Given the description of an element on the screen output the (x, y) to click on. 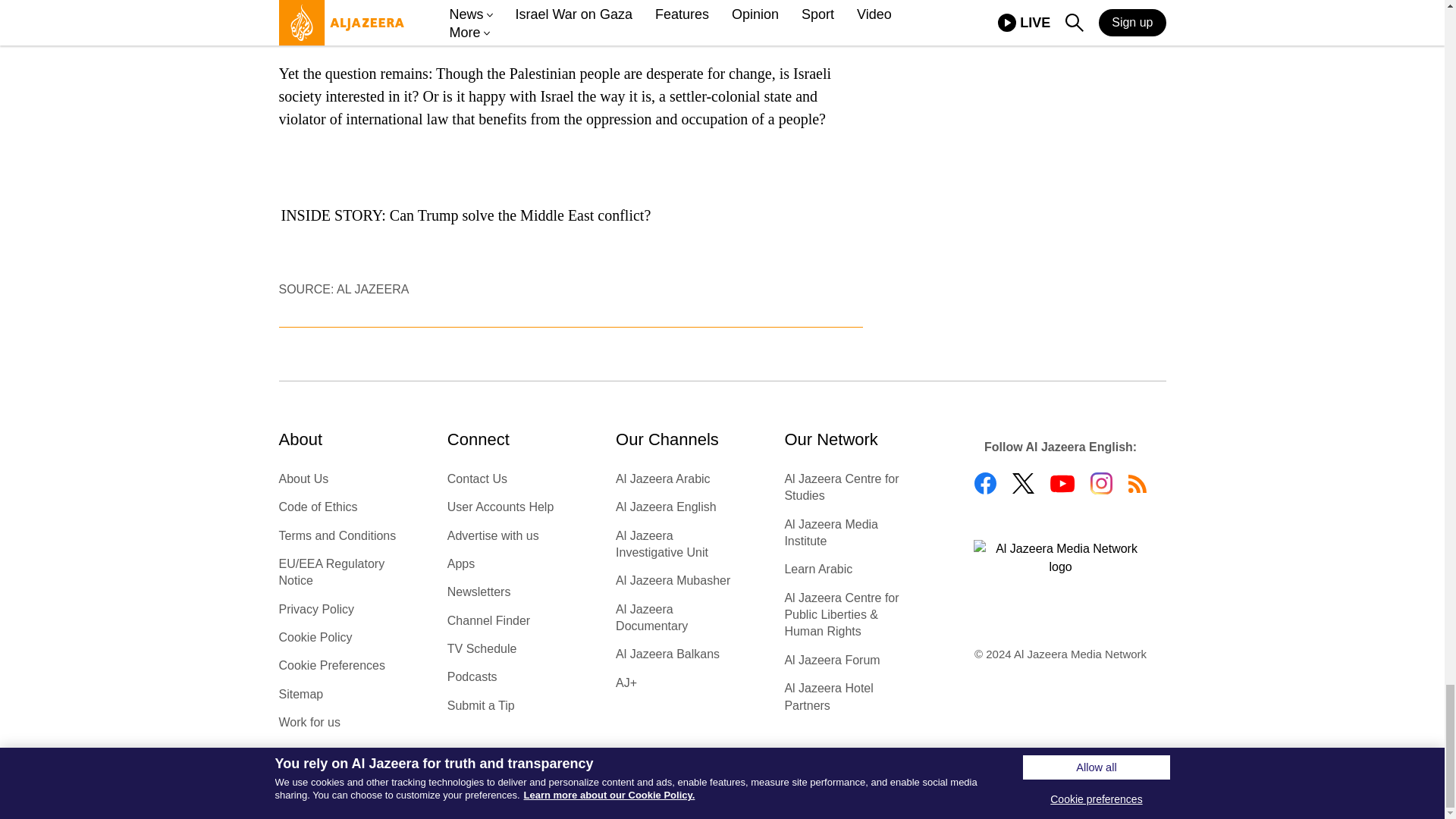
twitter (1022, 483)
facebook (984, 483)
rss (1137, 484)
youtube (1061, 483)
instagram-colored-outline (1101, 483)
